Given the description of an element on the screen output the (x, y) to click on. 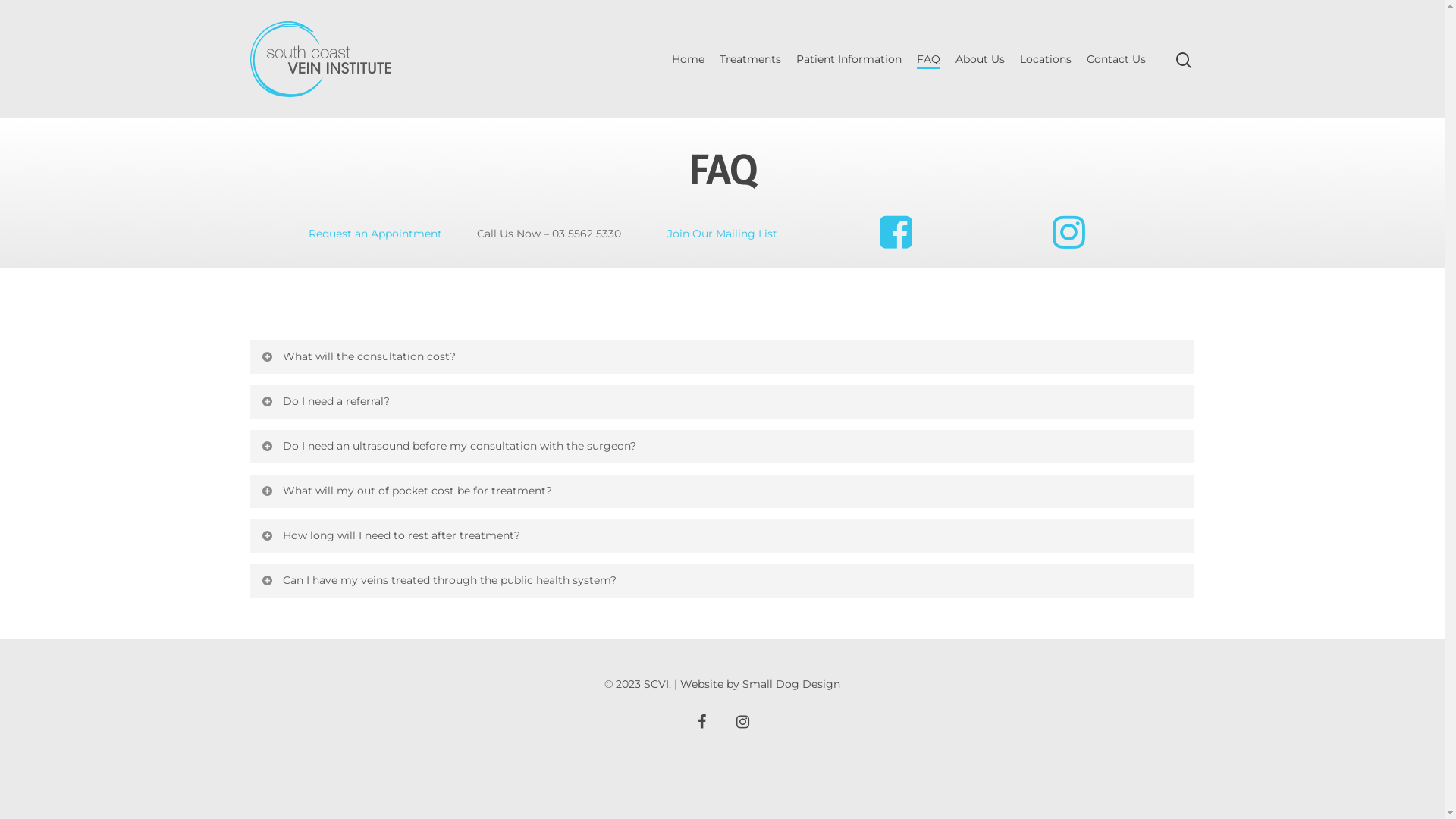
How long will I need to rest after treatment? Element type: text (722, 535)
Locations Element type: text (1045, 58)
What will my out of pocket cost be for treatment? Element type: text (722, 491)
Small Dog Design Element type: text (791, 683)
FAQ Element type: text (928, 58)
Request an Appointment Element type: text (375, 233)
Home Element type: text (687, 58)
Do I need a referral? Element type: text (722, 401)
Treatments Element type: text (750, 58)
Patient Information Element type: text (848, 58)
About Us Element type: text (979, 58)
What will the consultation cost? Element type: text (722, 356)
Join Our Mailing List Element type: text (722, 233)
Contact Us Element type: text (1115, 58)
